Given the description of an element on the screen output the (x, y) to click on. 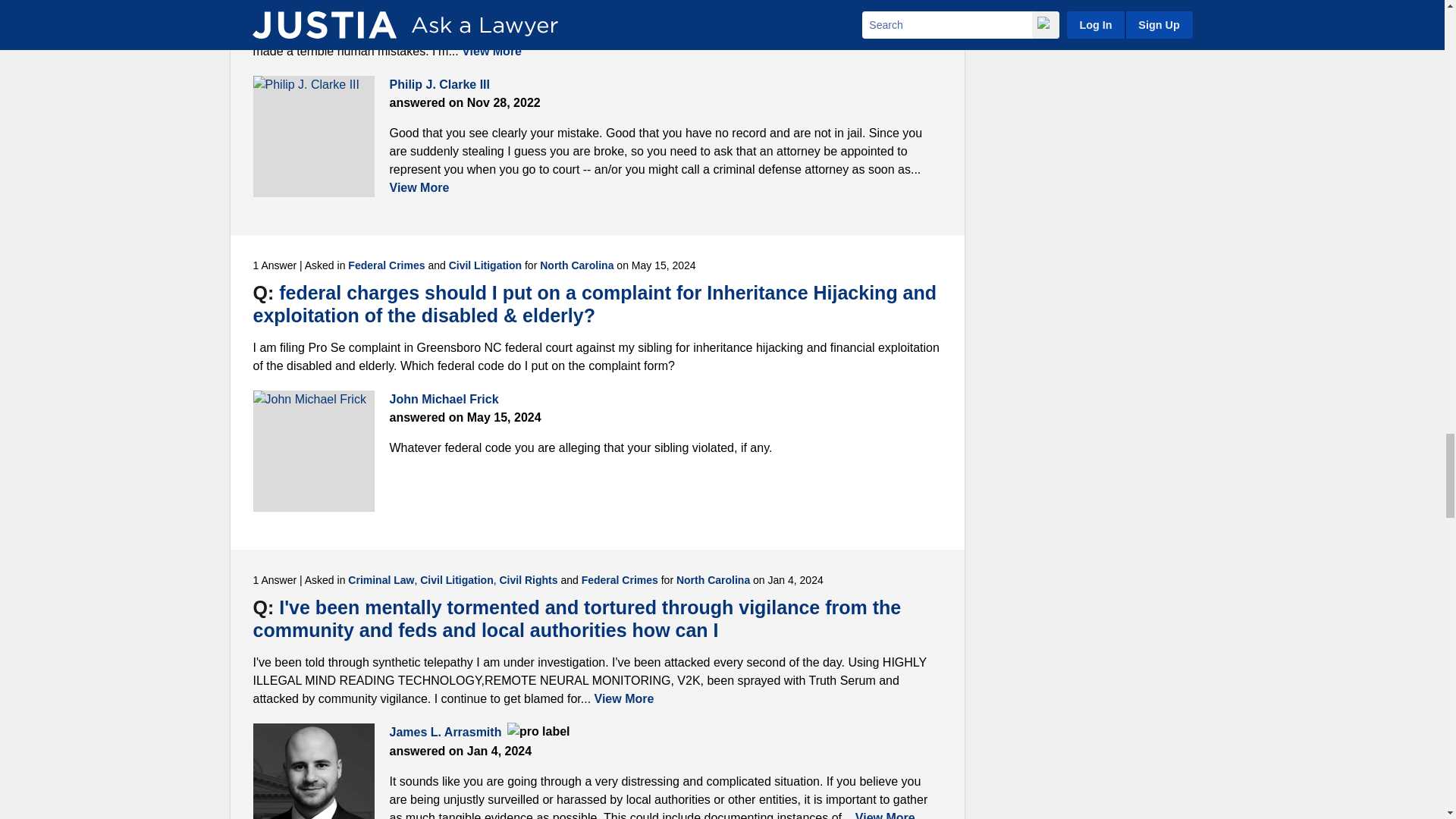
James L. Arrasmith (313, 771)
Philip J. Clarke III (313, 136)
John Michael Frick (313, 450)
